Given the description of an element on the screen output the (x, y) to click on. 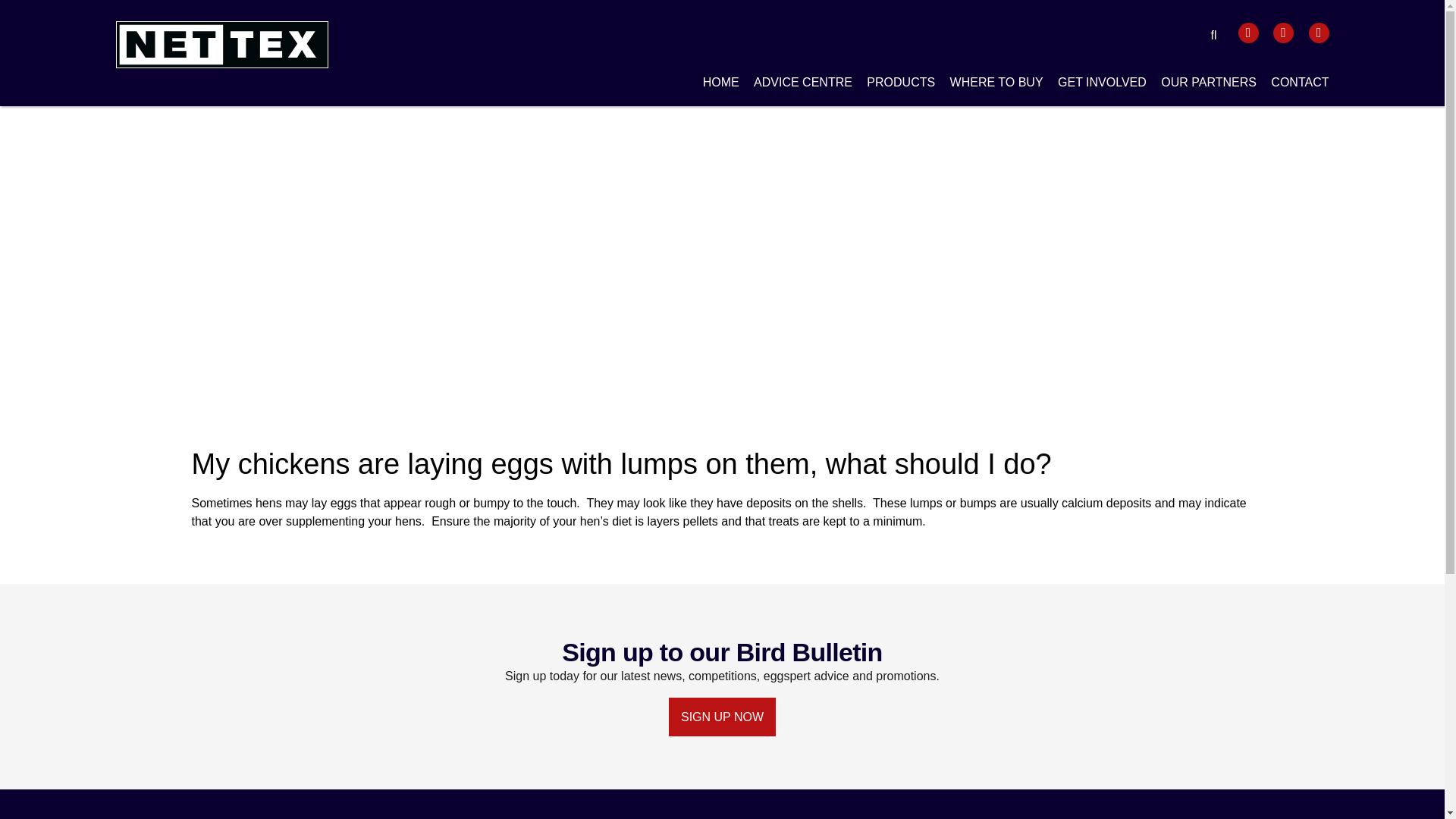
WHERE TO BUY (996, 84)
GET INVOLVED (1102, 84)
ADVICE CENTRE (802, 84)
OUR PARTNERS (1208, 84)
PRODUCTS (900, 84)
HOME (721, 84)
